Given the description of an element on the screen output the (x, y) to click on. 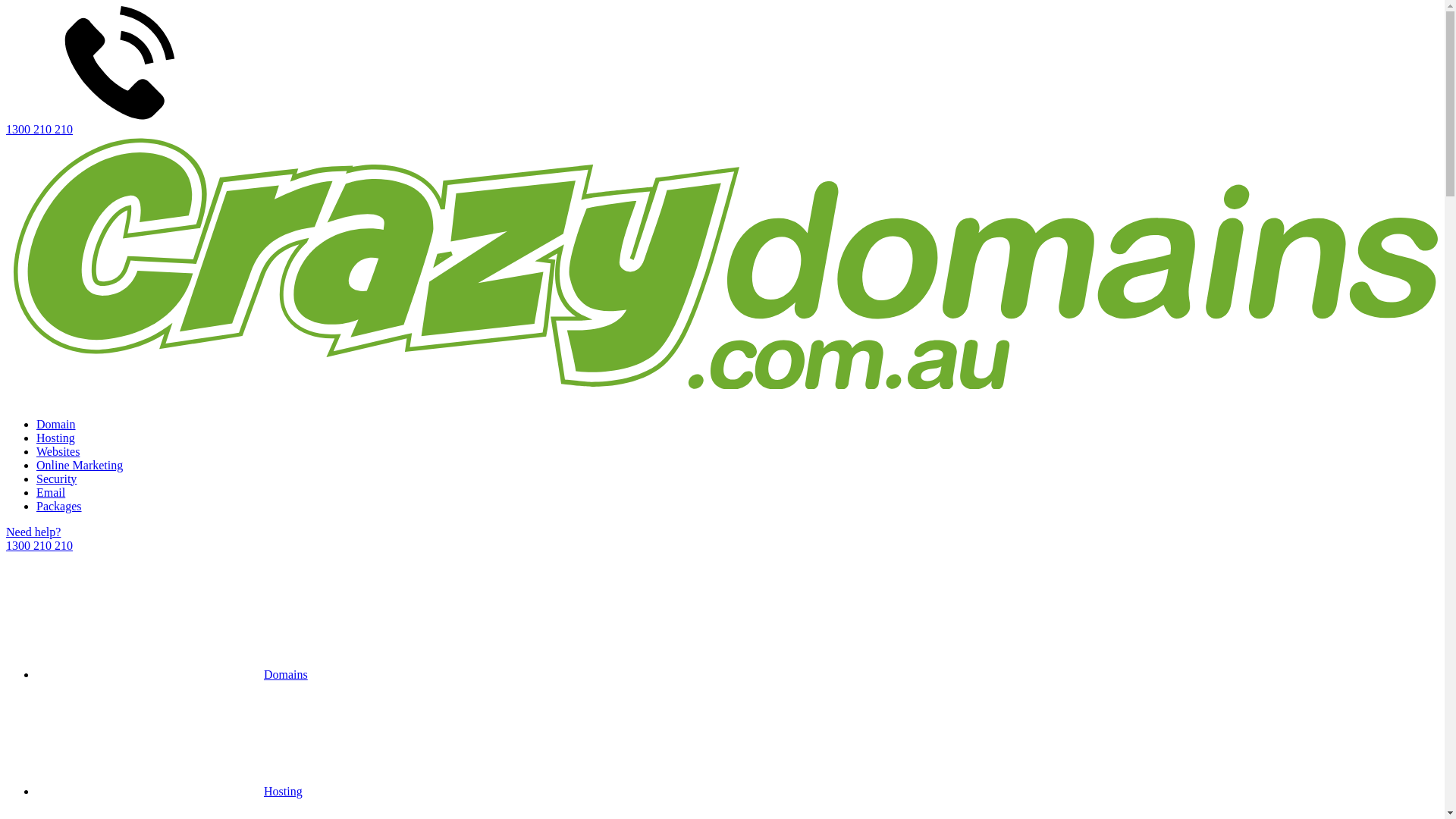
Websites Element type: text (57, 451)
Domains Element type: text (171, 674)
Packages Element type: text (58, 505)
Hosting Element type: text (169, 790)
Need help?
1300 210 210 Element type: text (722, 538)
Domain Element type: text (55, 423)
Email Element type: text (50, 492)
Hosting Element type: text (55, 437)
Online Marketing Element type: text (79, 464)
1300 210 210 Element type: text (722, 70)
Security Element type: text (56, 478)
